Given the description of an element on the screen output the (x, y) to click on. 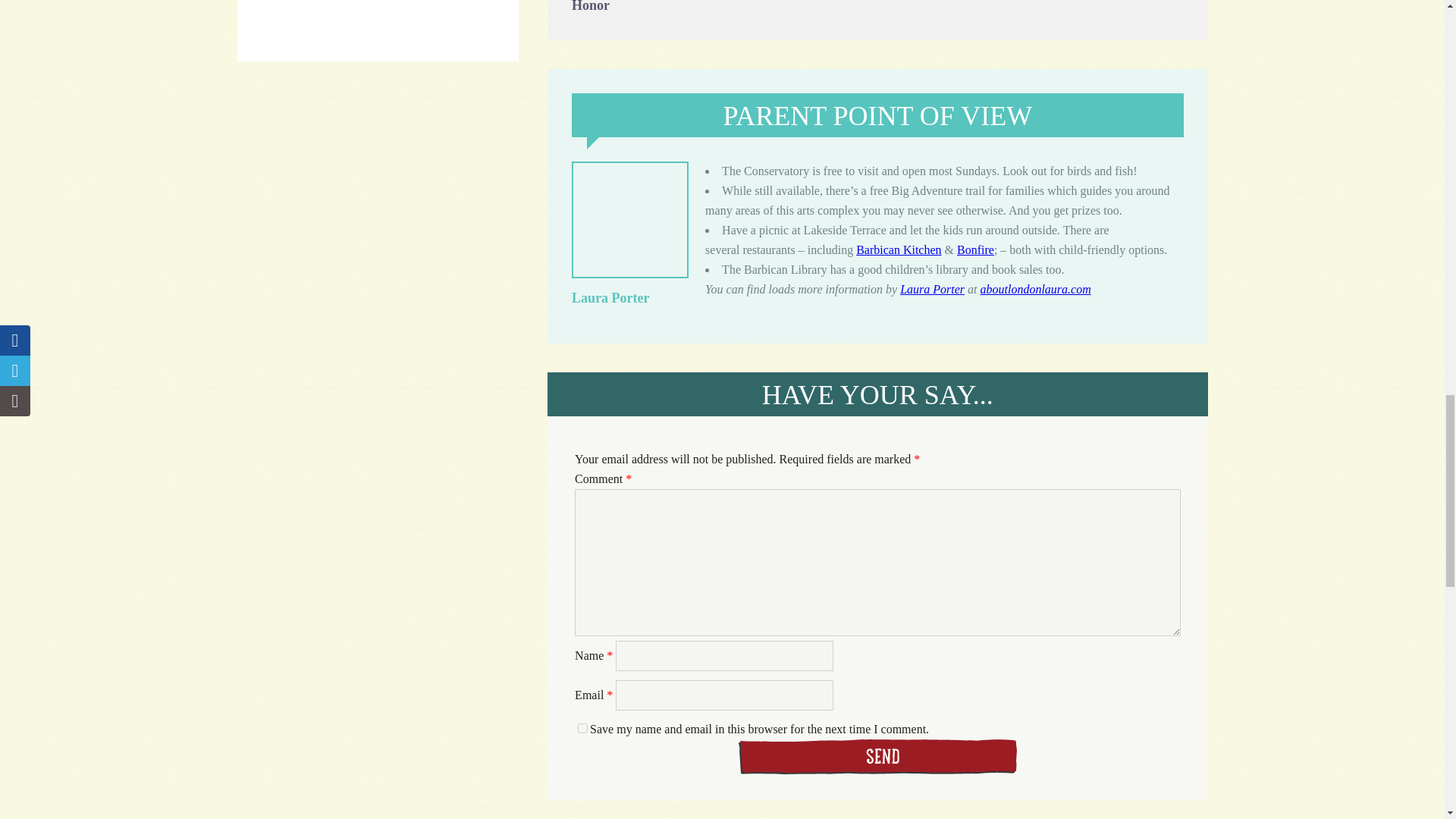
Post Comment (877, 756)
yes (583, 728)
